Given the description of an element on the screen output the (x, y) to click on. 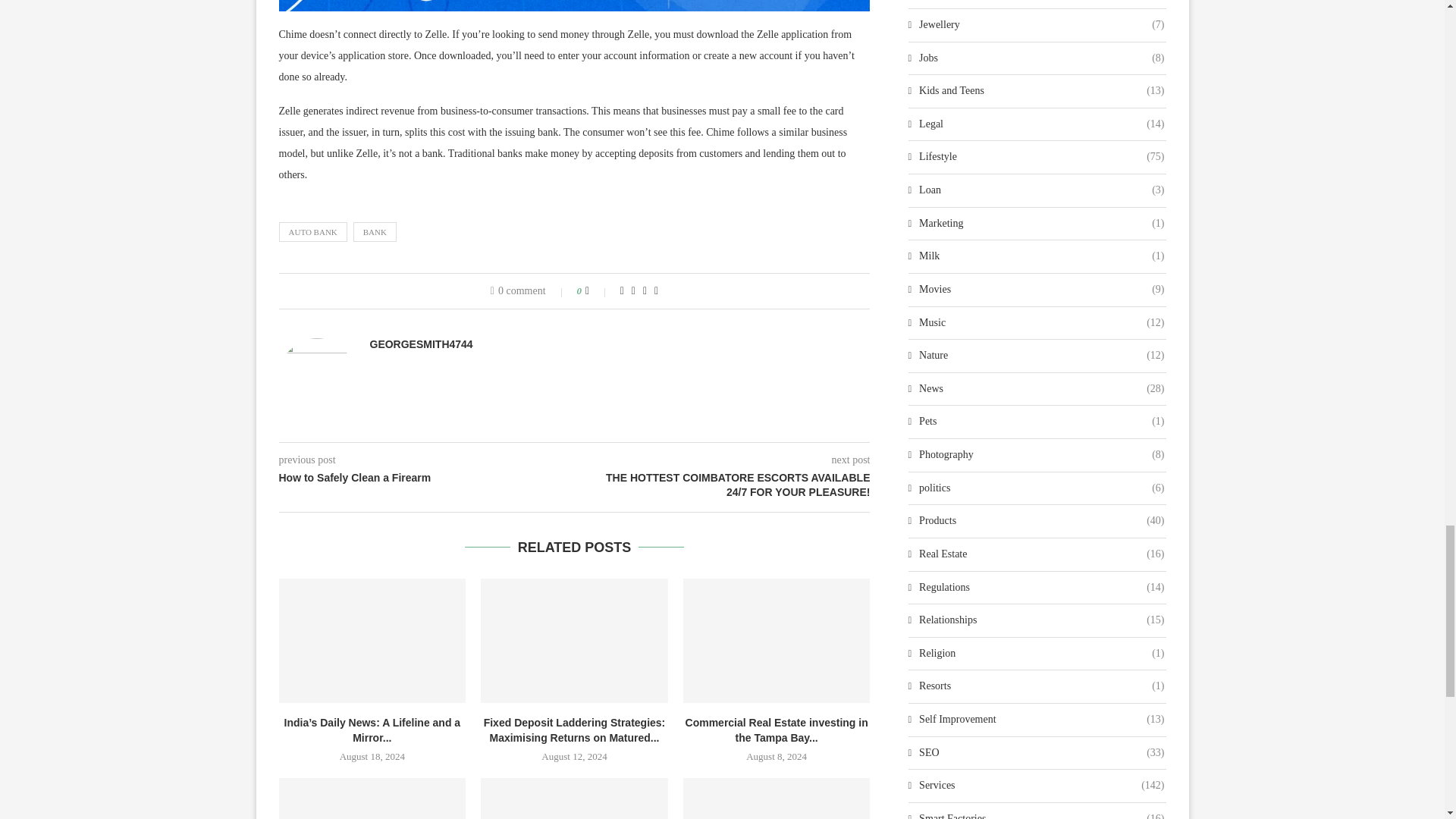
Innovative Home Building Techniques for Energy Efficiency (372, 798)
How to Safely Clean a Firearm (427, 478)
Author GeorgeSmith4744 (421, 344)
Brake Disc Manufacturer (776, 798)
Commercial Real Estate investing in the Tampa Bay MSA (776, 640)
AUTO BANK (313, 231)
GEORGESMITH4744 (421, 344)
Maximize Your Android Experience: Free VPNs to Consider (574, 798)
BANK (374, 231)
